Given the description of an element on the screen output the (x, y) to click on. 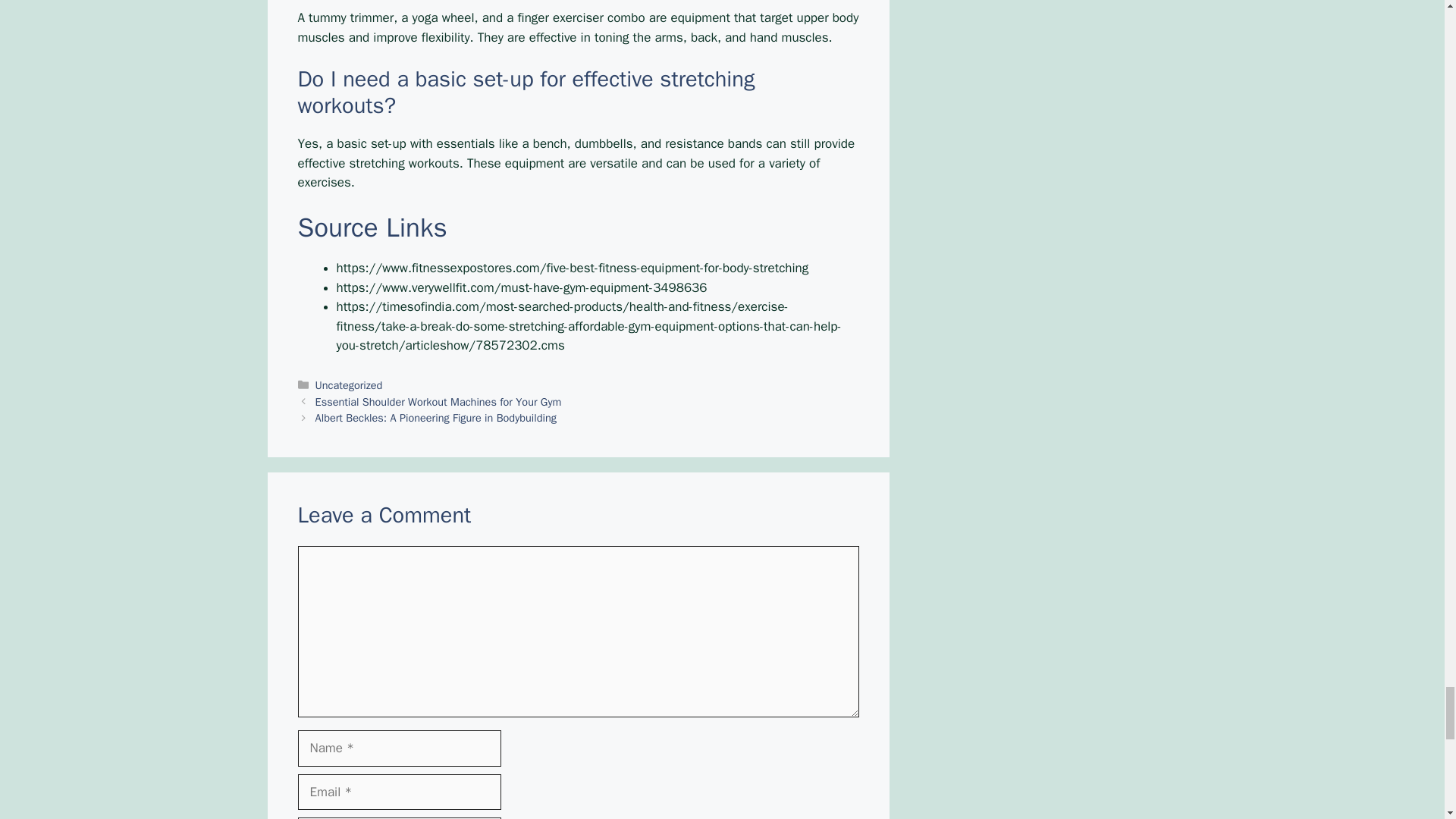
Albert Beckles: A Pioneering Figure in Bodybuilding (435, 418)
Uncategorized (348, 385)
Essential Shoulder Workout Machines for Your Gym (438, 400)
